Given the description of an element on the screen output the (x, y) to click on. 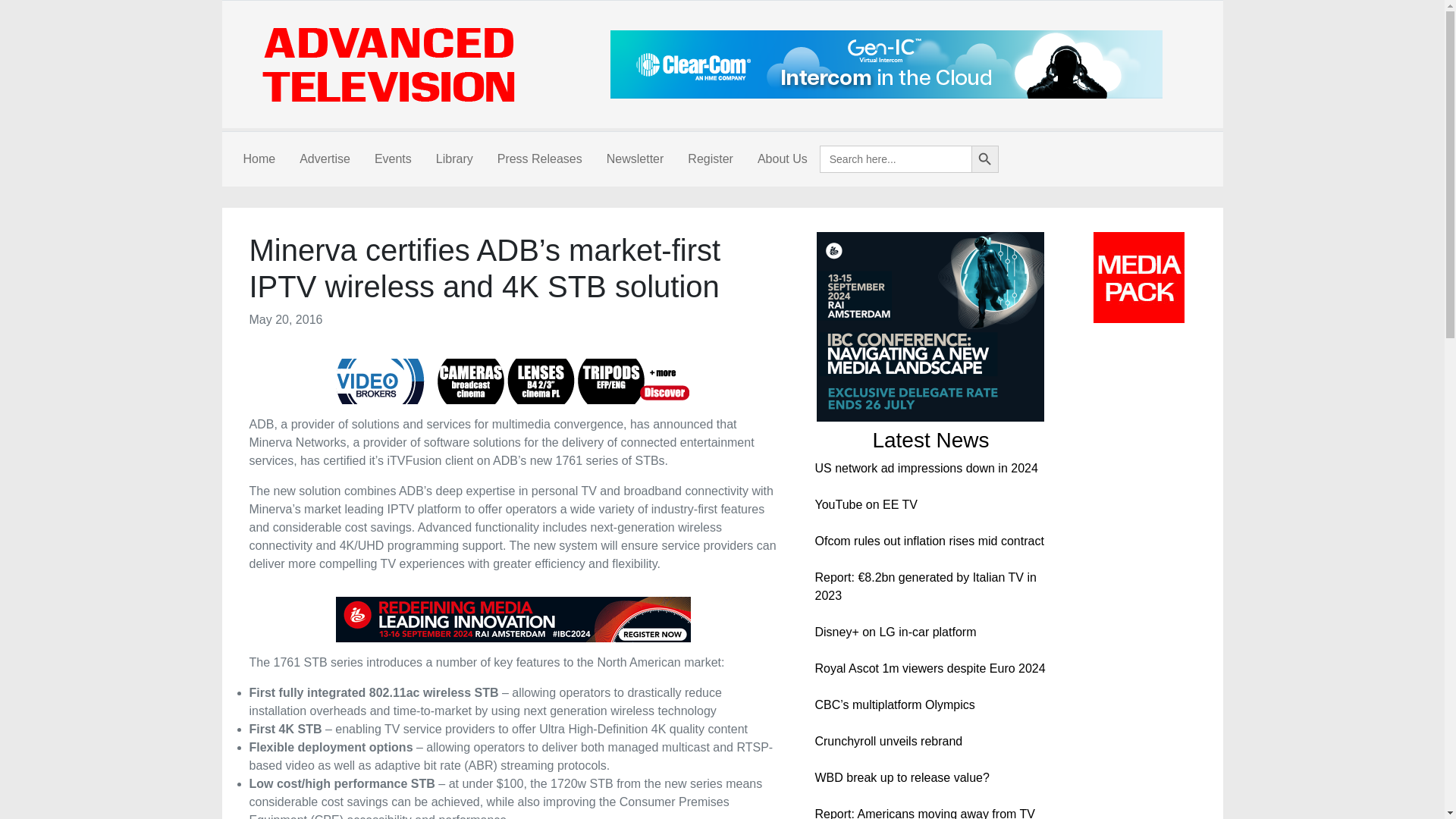
Report: Americans moving away from TV bingeing (923, 813)
Crunchyroll unveils rebrand (887, 740)
WBD break up to release value? (900, 777)
Events (392, 158)
Home (258, 158)
Search Button (984, 158)
About Us (782, 158)
Press Releases (539, 158)
Library (453, 158)
Ofcom rules out inflation rises mid contract (928, 540)
US network ad impressions down in 2024 (924, 468)
Register (710, 158)
YouTube on EE TV (865, 504)
Advertise (324, 158)
Royal Ascot 1m viewers despite Euro 2024 (929, 667)
